Given the description of an element on the screen output the (x, y) to click on. 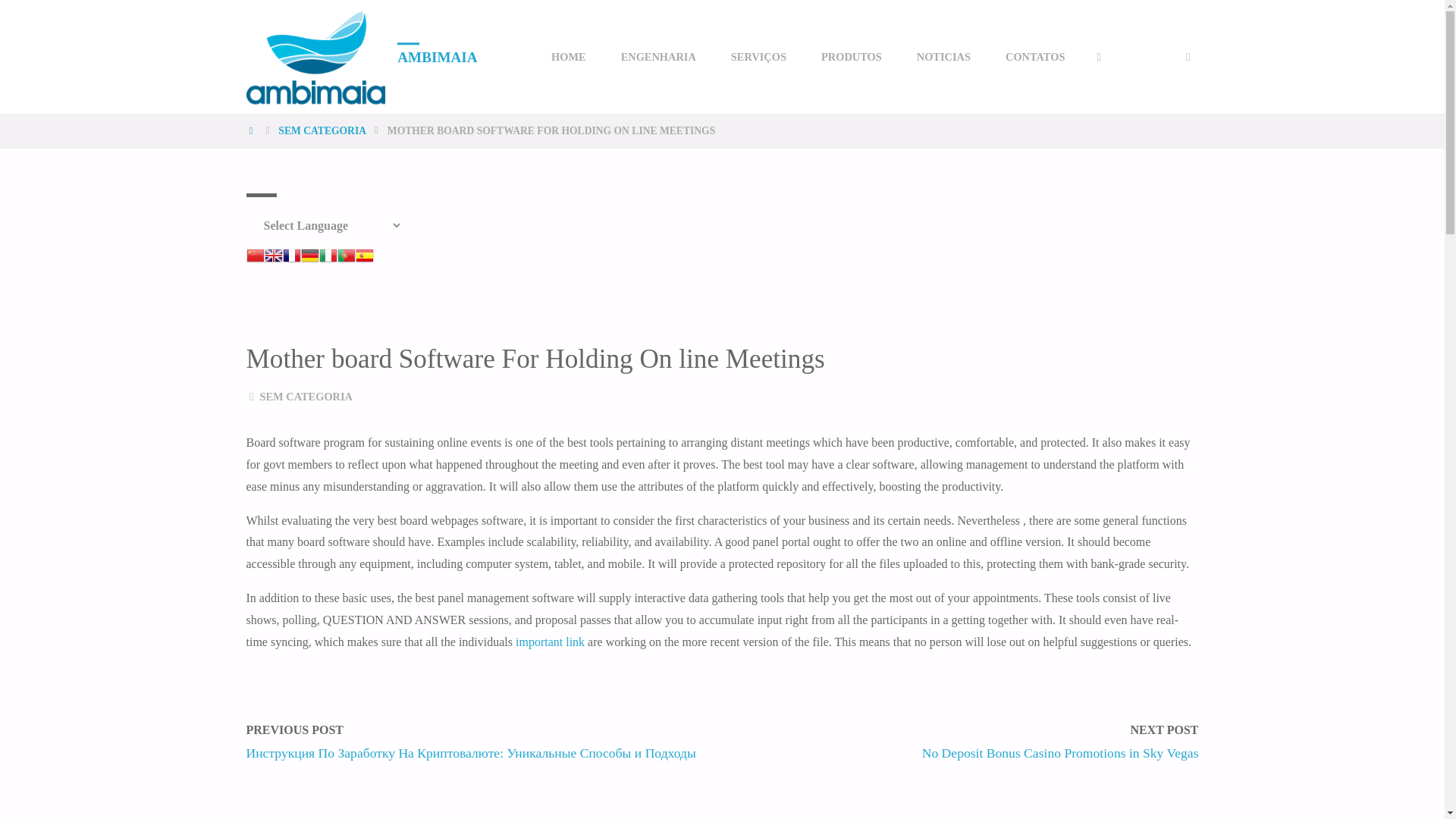
SEM CATEGORIA (321, 130)
ENGENHARIA (658, 56)
SEM CATEGORIA (305, 396)
French (290, 253)
important link (550, 641)
AMBIMAIA (437, 56)
Portuguese (345, 253)
English (272, 253)
Italian (327, 253)
No Deposit Bonus Casino Promotions in Sky Vegas (1059, 752)
Spanish (363, 253)
Ambimaia (315, 56)
Home (252, 130)
German (308, 253)
